Given the description of an element on the screen output the (x, y) to click on. 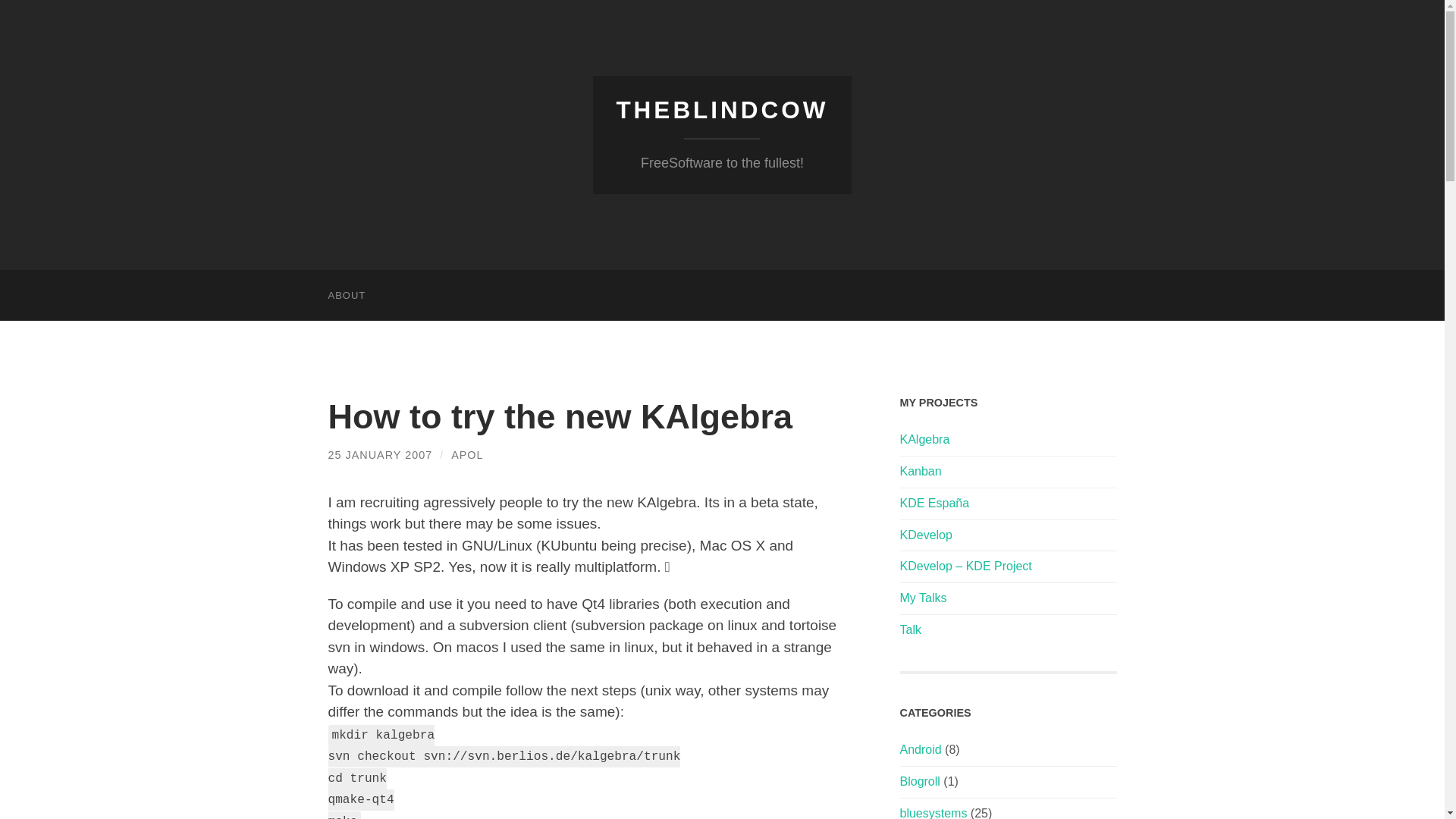
Android (919, 748)
Here I have some information about my talks. (922, 597)
Talk (909, 629)
KDevelop (925, 534)
Kanban (919, 471)
APOL (467, 454)
Talk (909, 629)
bluesystems (932, 812)
Posts by apol (467, 454)
ABOUT (346, 295)
